Given the description of an element on the screen output the (x, y) to click on. 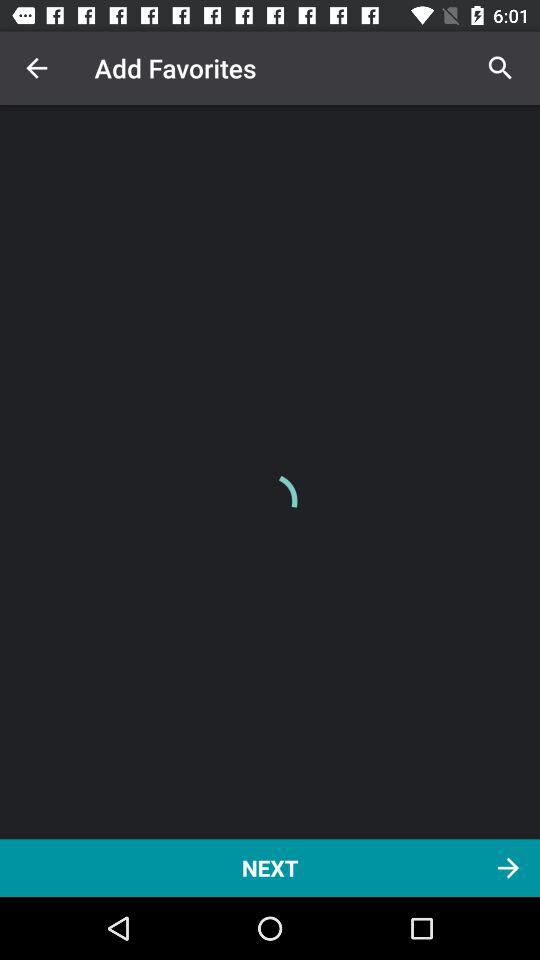
turn on icon at the top right corner (500, 67)
